Given the description of an element on the screen output the (x, y) to click on. 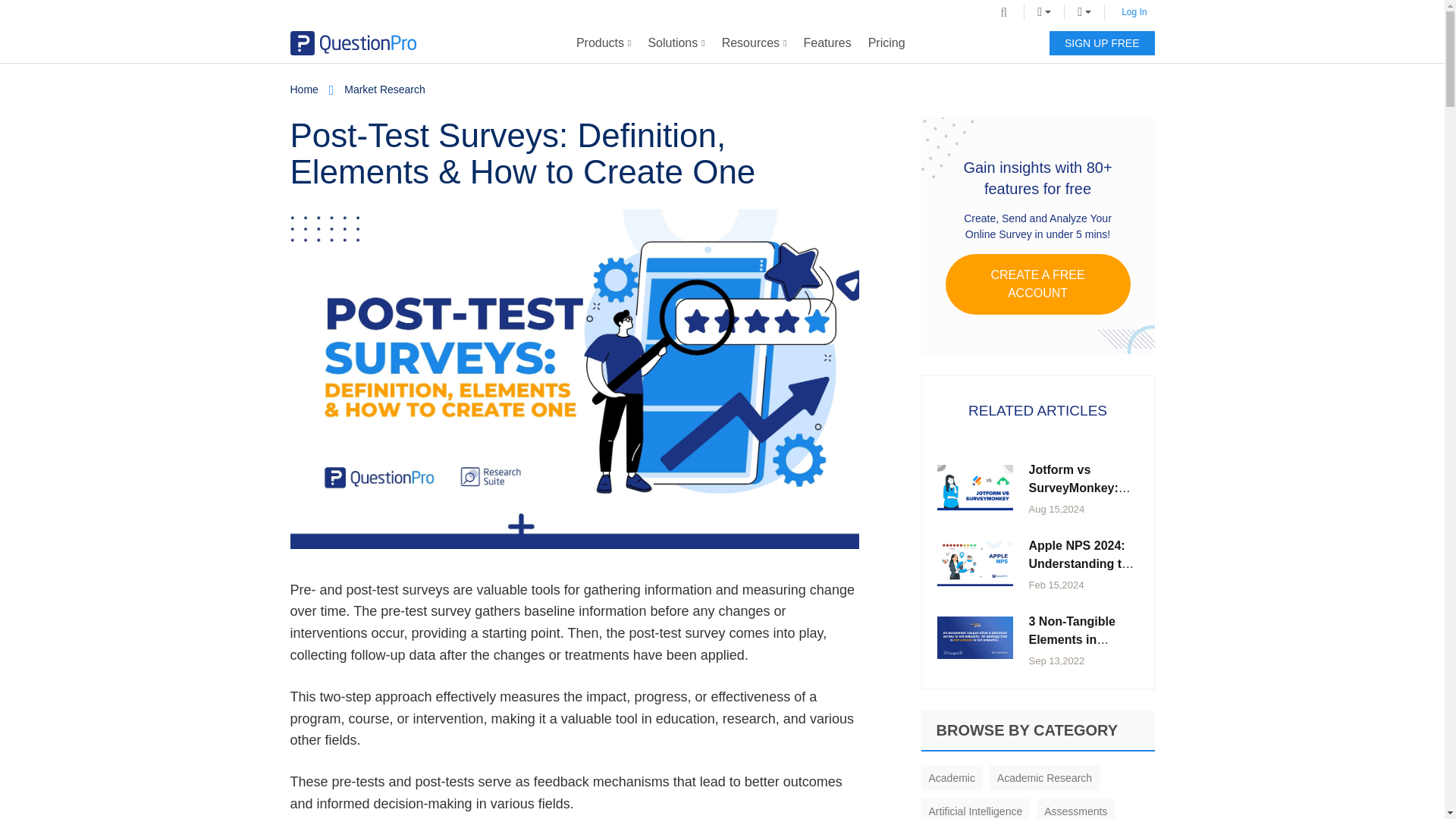
Pricing (887, 42)
Products (603, 42)
Solutions (676, 42)
Resources (753, 42)
Features (827, 42)
